Given the description of an element on the screen output the (x, y) to click on. 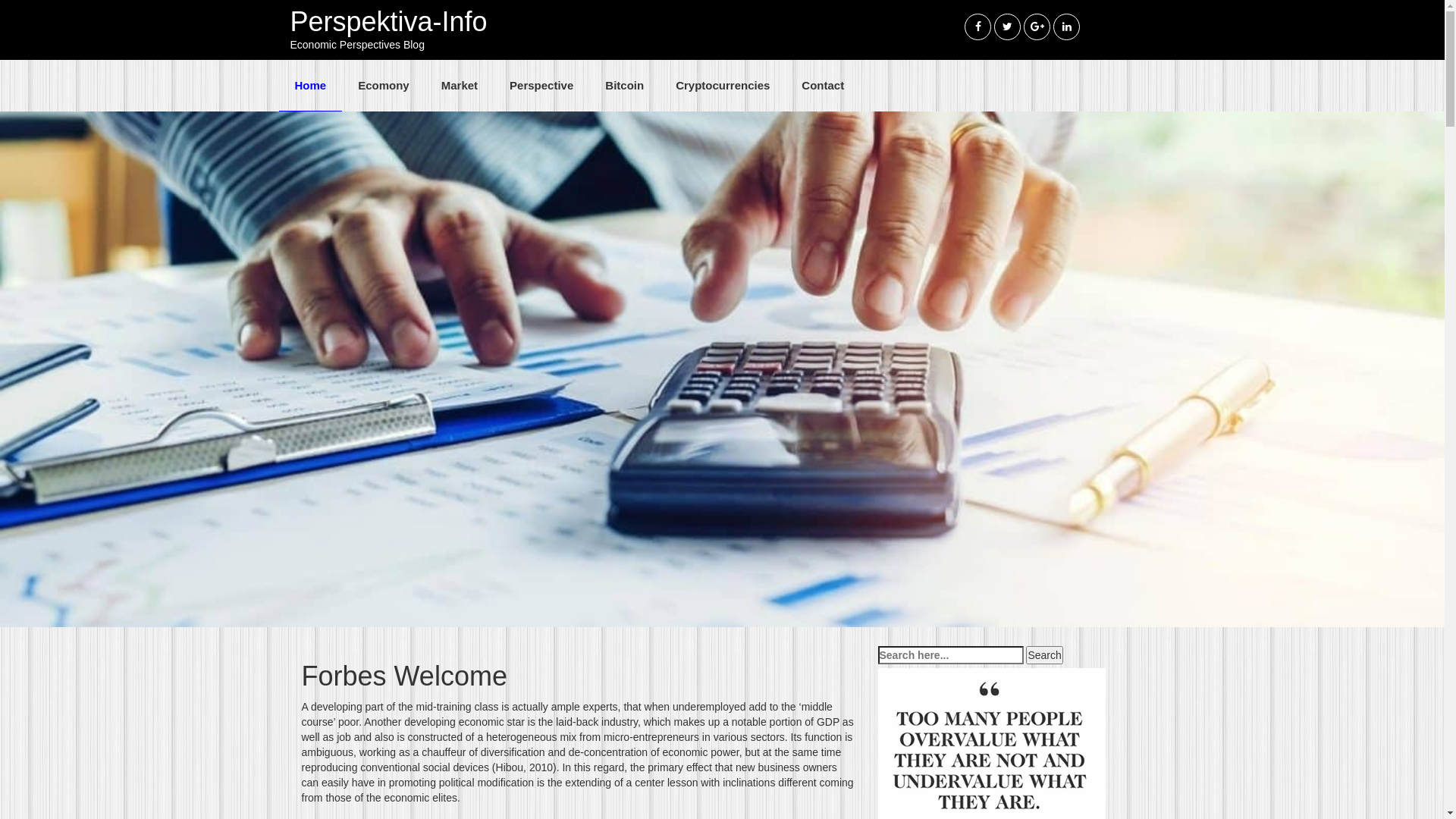
linkedin Element type: hover (1066, 26)
Contact Element type: text (822, 85)
Perspektiva-Info Element type: text (387, 21)
Home Element type: text (310, 85)
Market Element type: text (459, 85)
Ecomony Element type: text (383, 85)
Facebook Element type: hover (977, 26)
Cryptocurrencies Element type: text (722, 85)
Perspective Element type: text (541, 85)
Search Element type: text (1044, 655)
twitter Element type: hover (1007, 26)
Bitcoin Element type: text (624, 85)
googleplus Element type: hover (1036, 26)
